Given the description of an element on the screen output the (x, y) to click on. 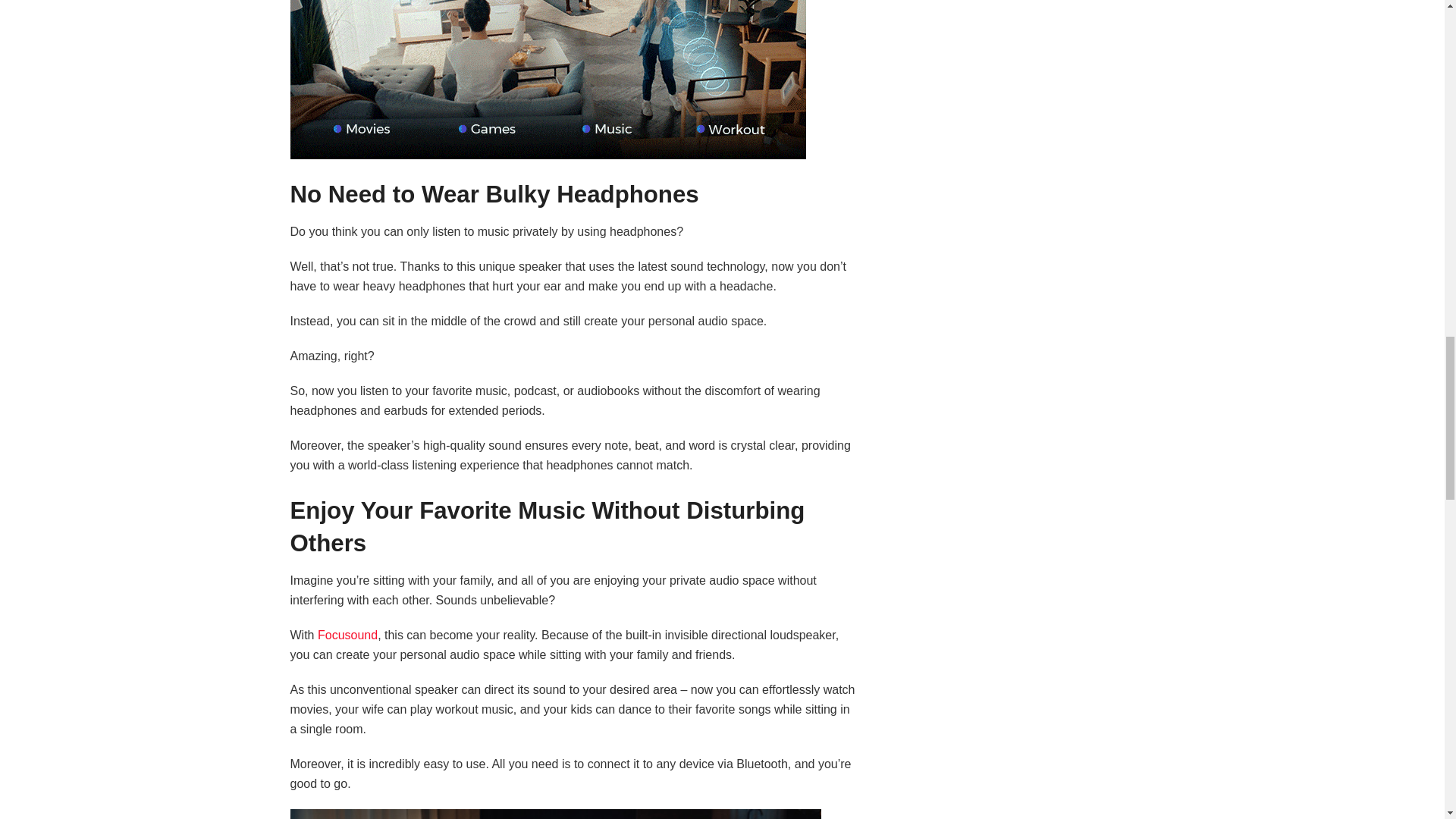
Focusound (347, 634)
